Given the description of an element on the screen output the (x, y) to click on. 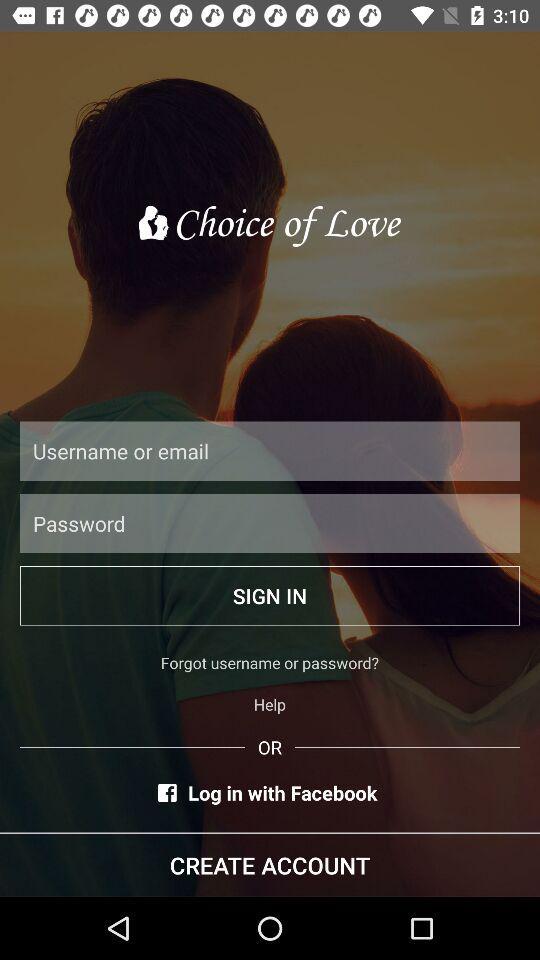
choose item below the sign in item (269, 662)
